Given the description of an element on the screen output the (x, y) to click on. 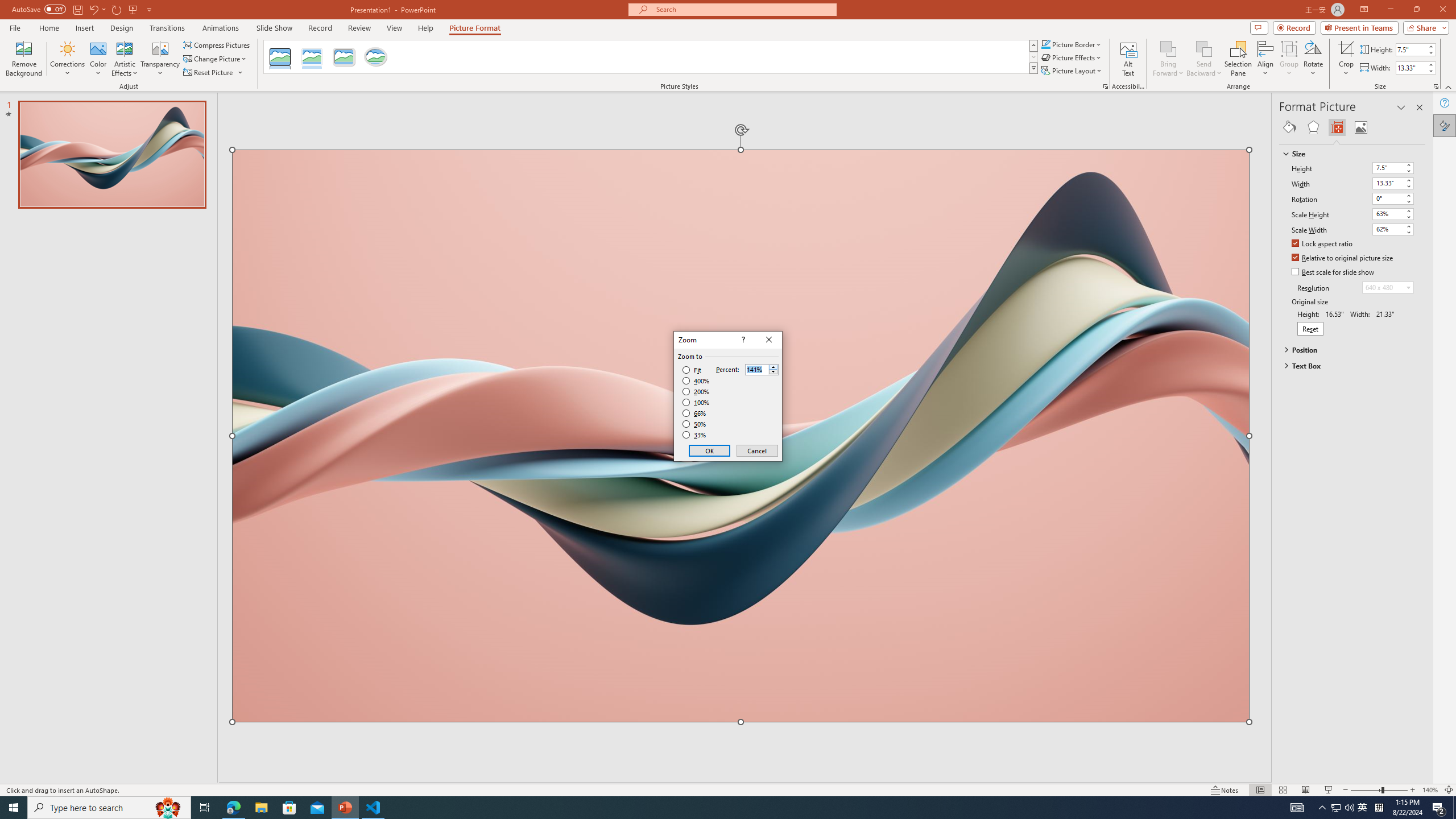
Transparency (160, 58)
50% (694, 424)
33% (694, 434)
Picture... (1104, 85)
Artistic Effects (124, 58)
Cancel (756, 450)
